Given the description of an element on the screen output the (x, y) to click on. 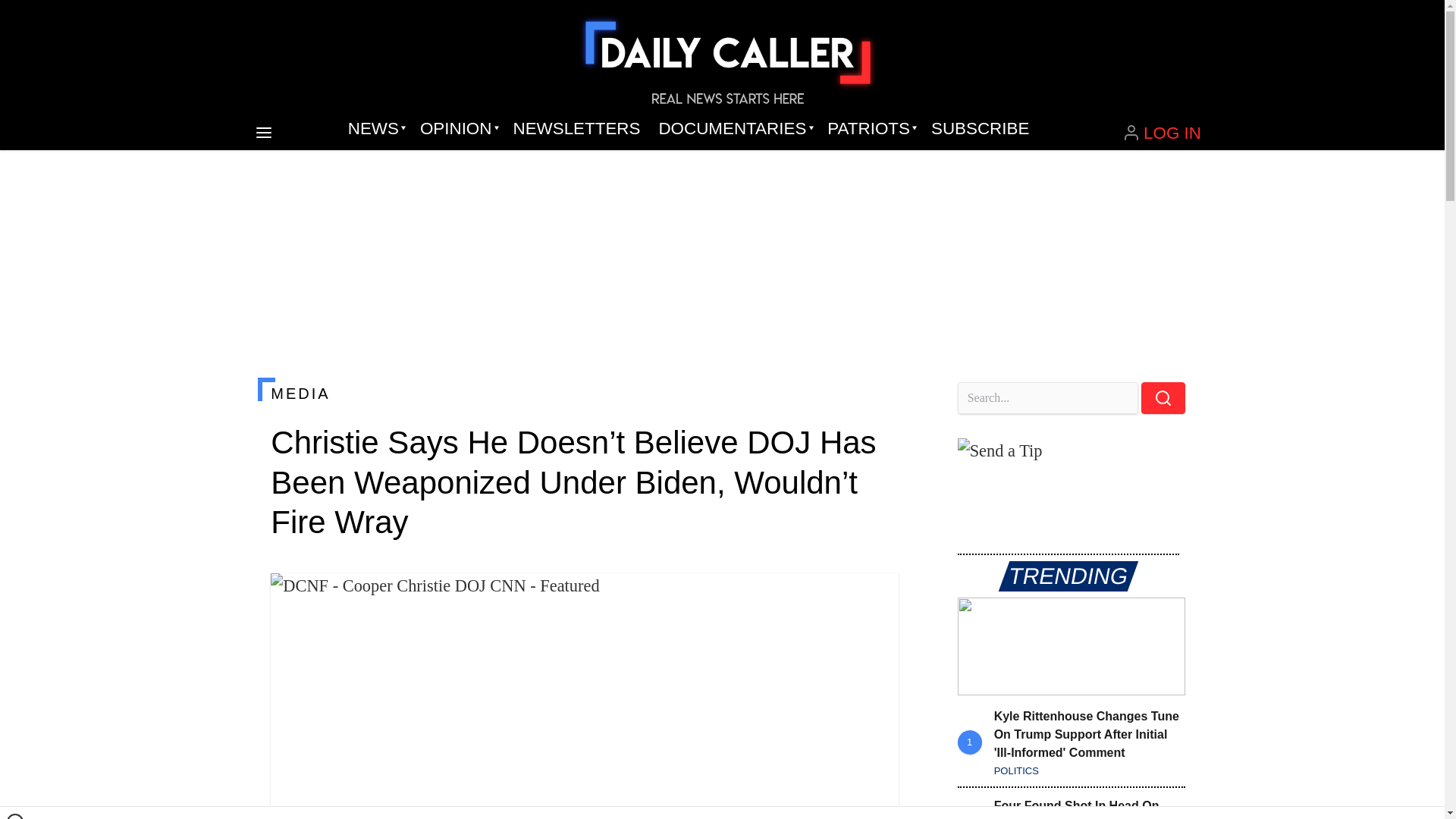
NEWS (374, 128)
PATRIOTS (869, 128)
DOCUMENTARIES (733, 128)
OPINION (456, 128)
MEDIA (584, 393)
Toggle fullscreen (874, 596)
NEWSLETTERS (576, 128)
Close window (14, 816)
SUBSCRIBE (979, 128)
